Given the description of an element on the screen output the (x, y) to click on. 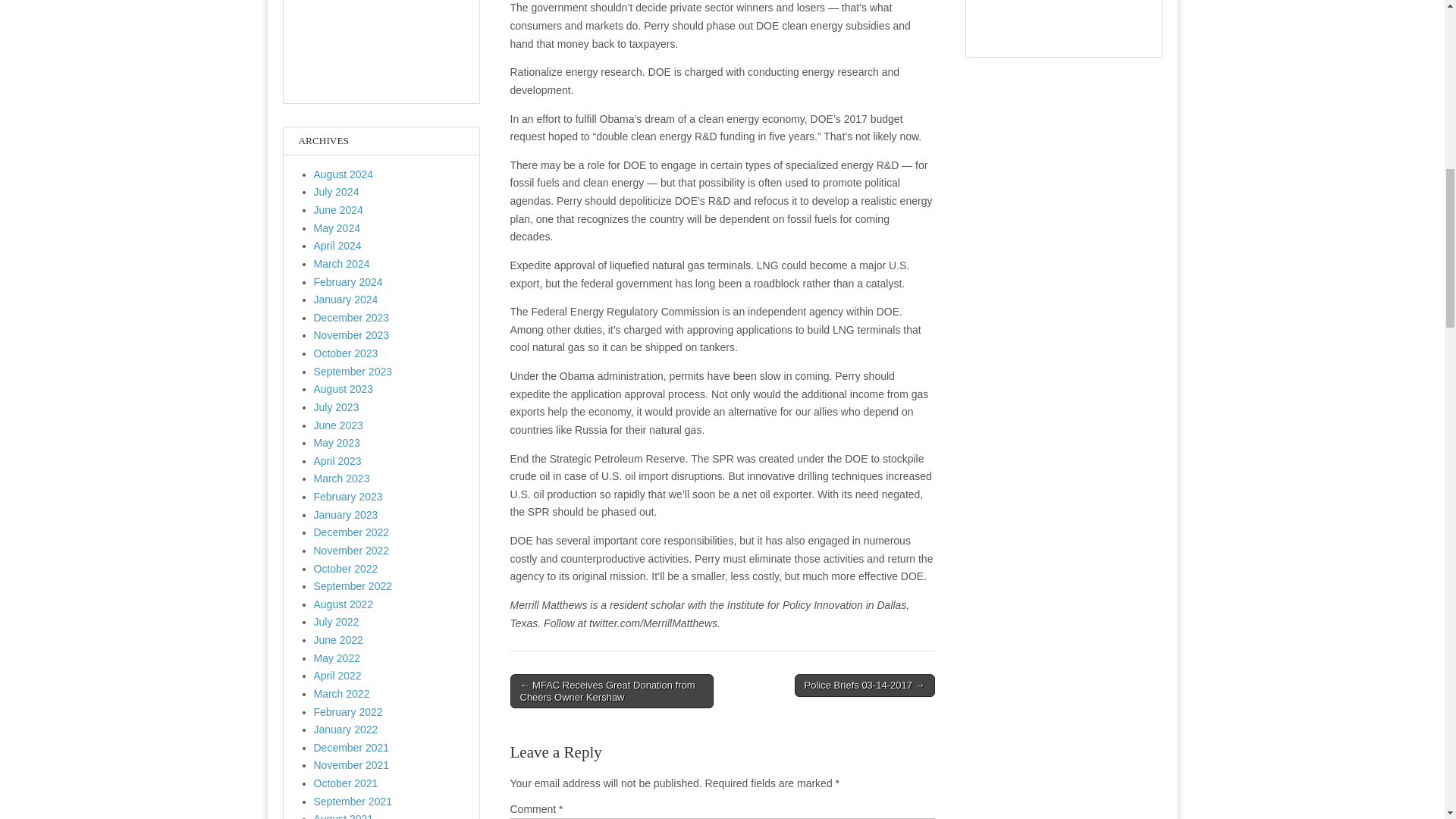
July 2024 (336, 191)
January 2024 (346, 299)
March 2024 (341, 263)
June 2024 (338, 209)
August 2024 (344, 174)
February 2024 (348, 282)
May 2024 (336, 227)
April 2024 (337, 245)
